Given the description of an element on the screen output the (x, y) to click on. 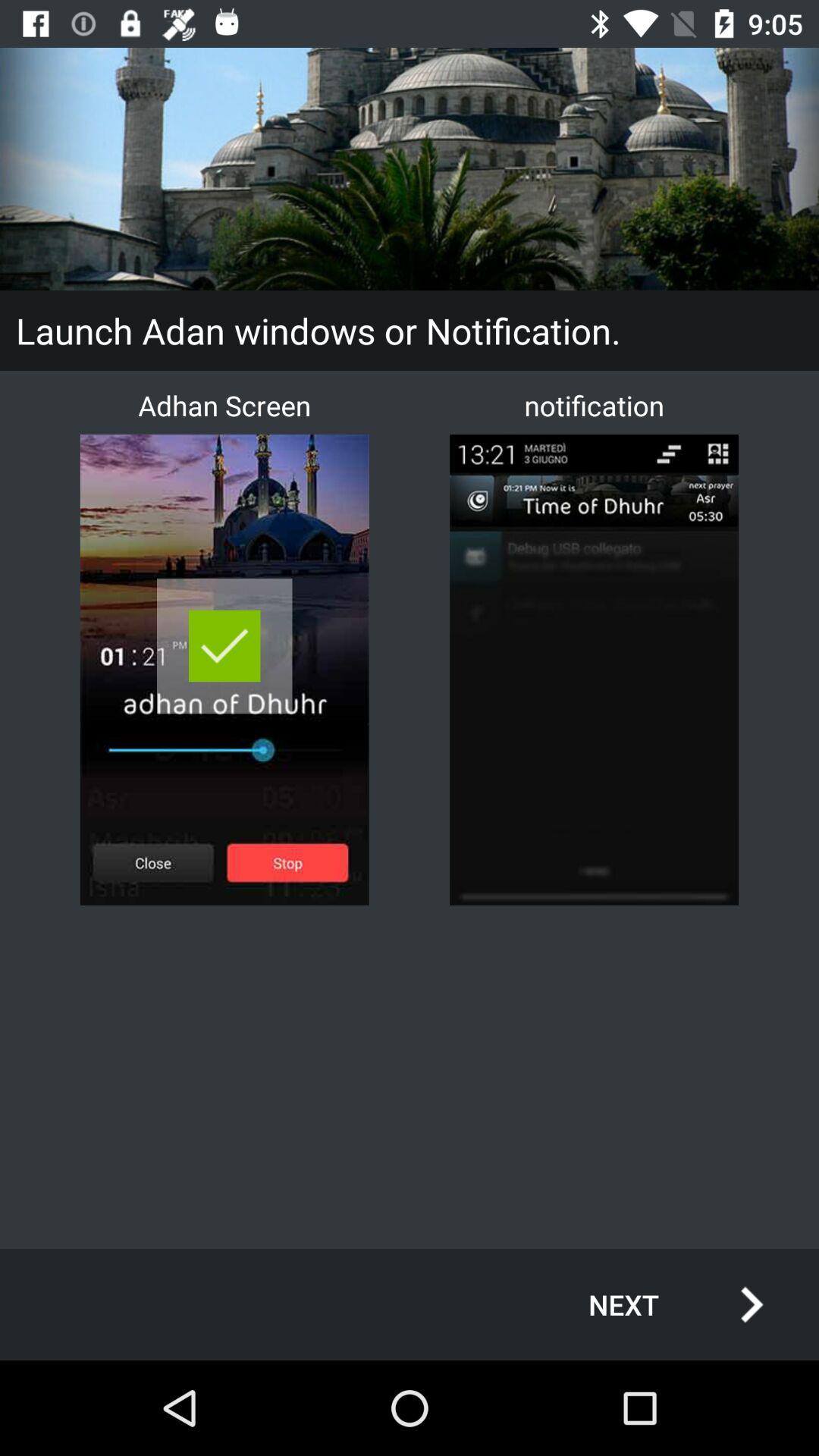
press button at the bottom right corner (659, 1304)
